Given the description of an element on the screen output the (x, y) to click on. 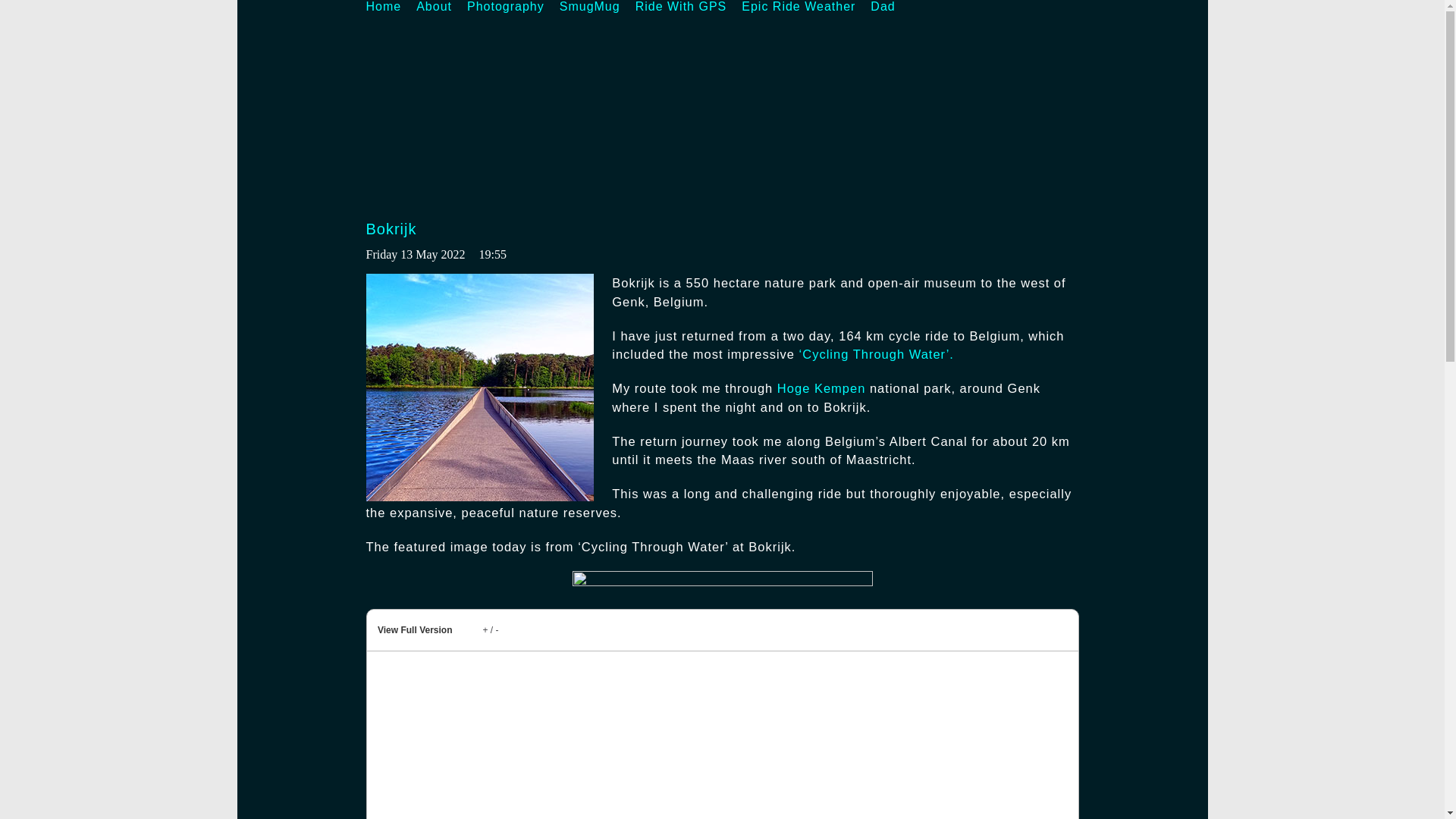
Ride With GPS (680, 6)
Dad (882, 6)
About (433, 6)
Epic Ride Weather (798, 6)
Home (383, 6)
Photography (505, 6)
SmugMug (589, 6)
Hoge Kempen (821, 387)
